Given the description of an element on the screen output the (x, y) to click on. 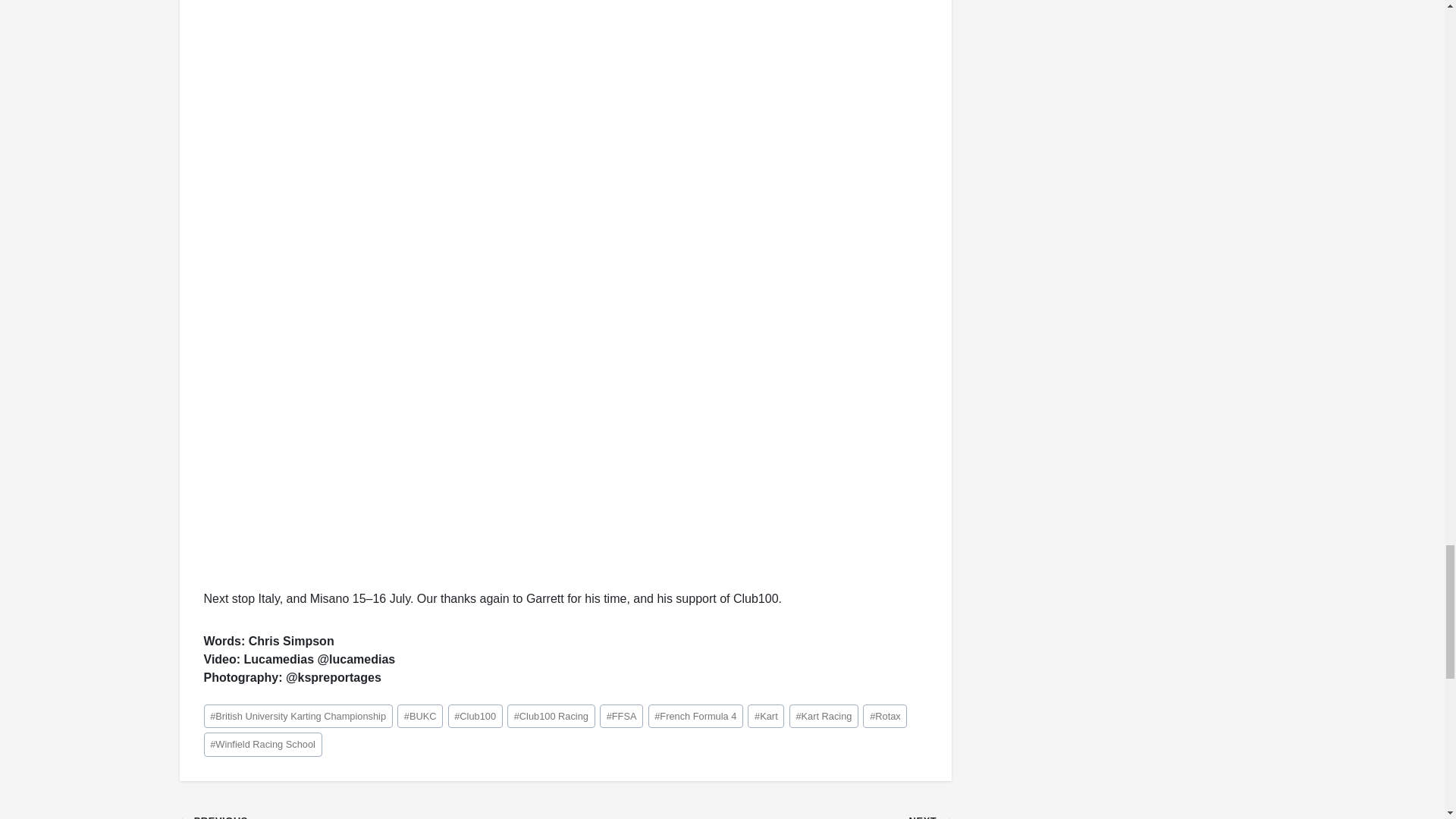
French Formula 4 (694, 716)
Club100 (475, 716)
Club100 Racing (550, 716)
Winfield Racing School (262, 743)
Kart (766, 716)
FFSA (621, 716)
BUKC (419, 716)
British University Karting Championship (297, 716)
Rotax (885, 716)
Kart Racing (824, 716)
